Given the description of an element on the screen output the (x, y) to click on. 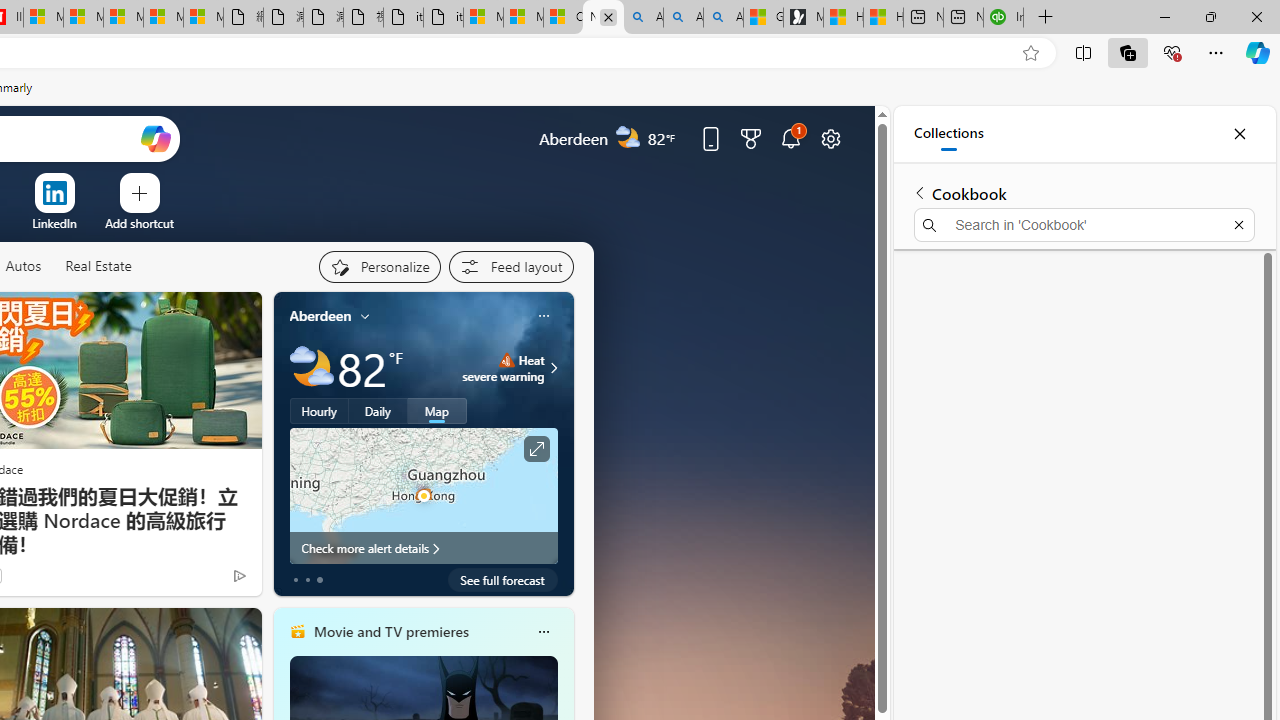
Exit search (1238, 224)
Heat - Severe Heat severe warning (503, 367)
Map (437, 411)
tab-2 (319, 579)
Search in 'Cookbook' (1084, 224)
